Given the description of an element on the screen output the (x, y) to click on. 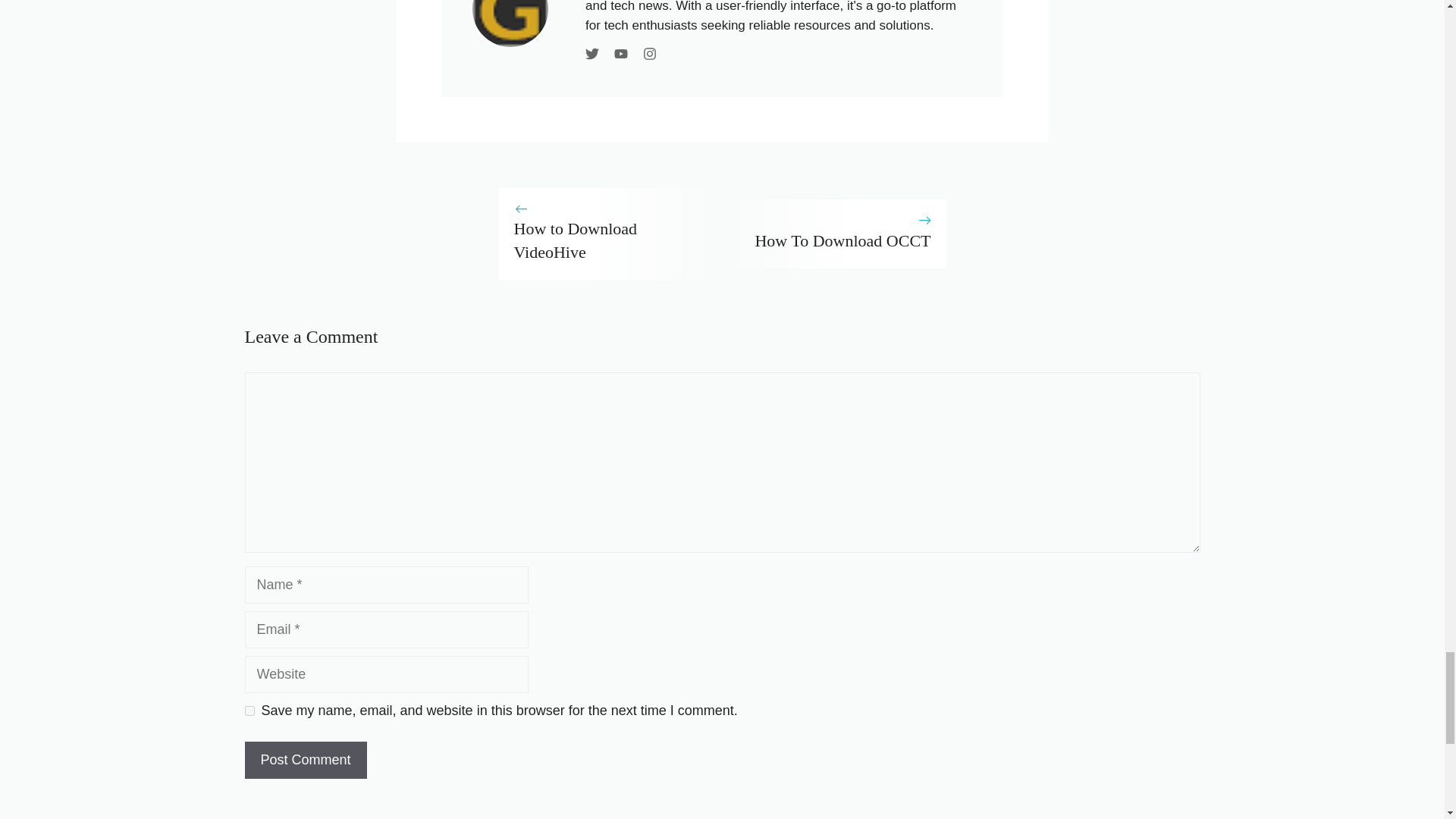
Post Comment (305, 760)
Post Comment (305, 760)
yes (248, 710)
Get Into My PC (509, 23)
How To Download OCCT (842, 240)
How to Download VideoHive (575, 240)
